Given the description of an element on the screen output the (x, y) to click on. 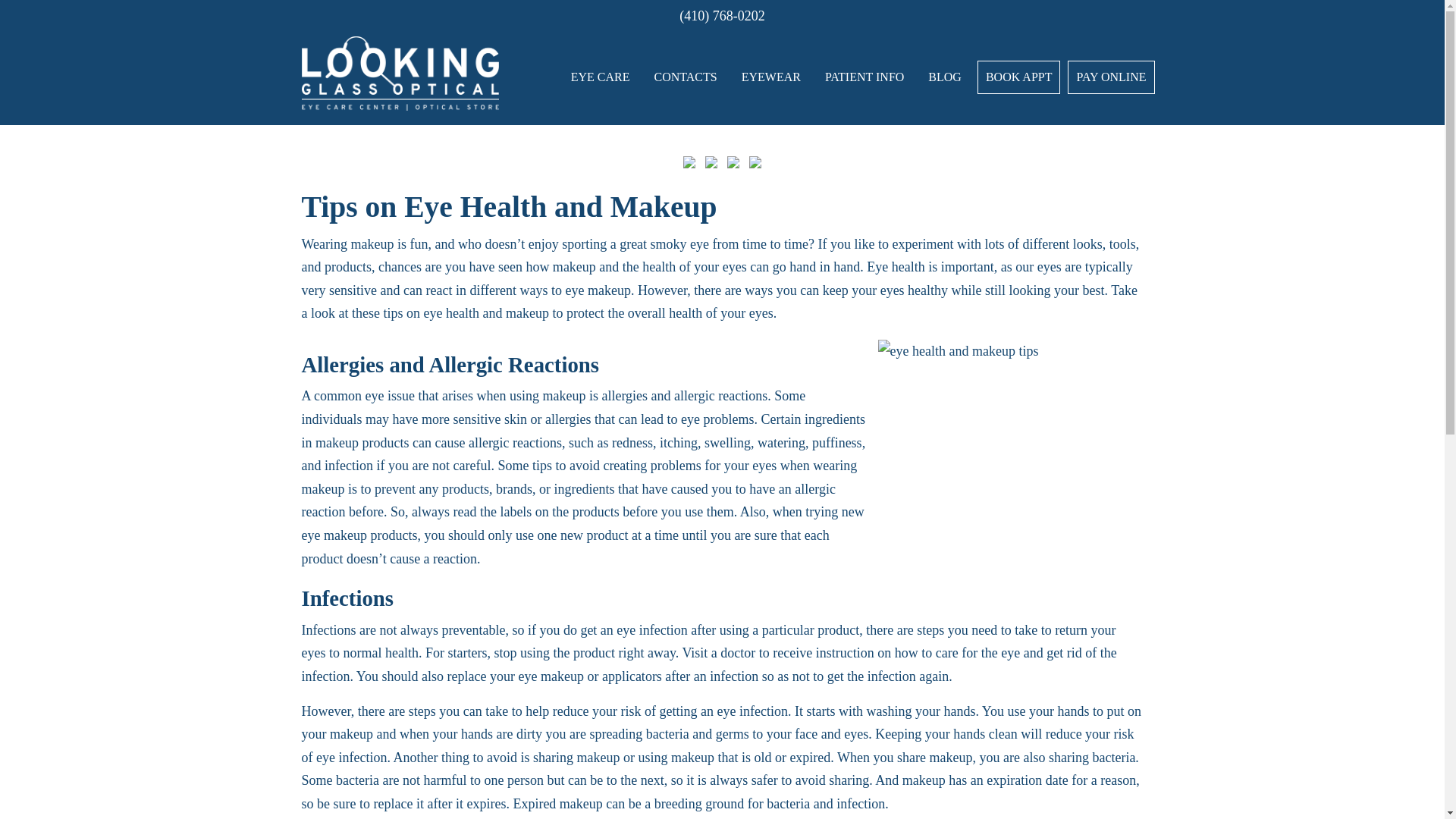
Looking Glass Optical (400, 72)
CONTACTS (685, 77)
BLOG (944, 77)
PATIENT INFO (863, 77)
Looking Glass Optical (400, 72)
PAY ONLINE (1110, 77)
Contact Lenses (685, 77)
Eyewear (770, 77)
Eye Health (600, 77)
BOOK APPT (1019, 77)
